Given the description of an element on the screen output the (x, y) to click on. 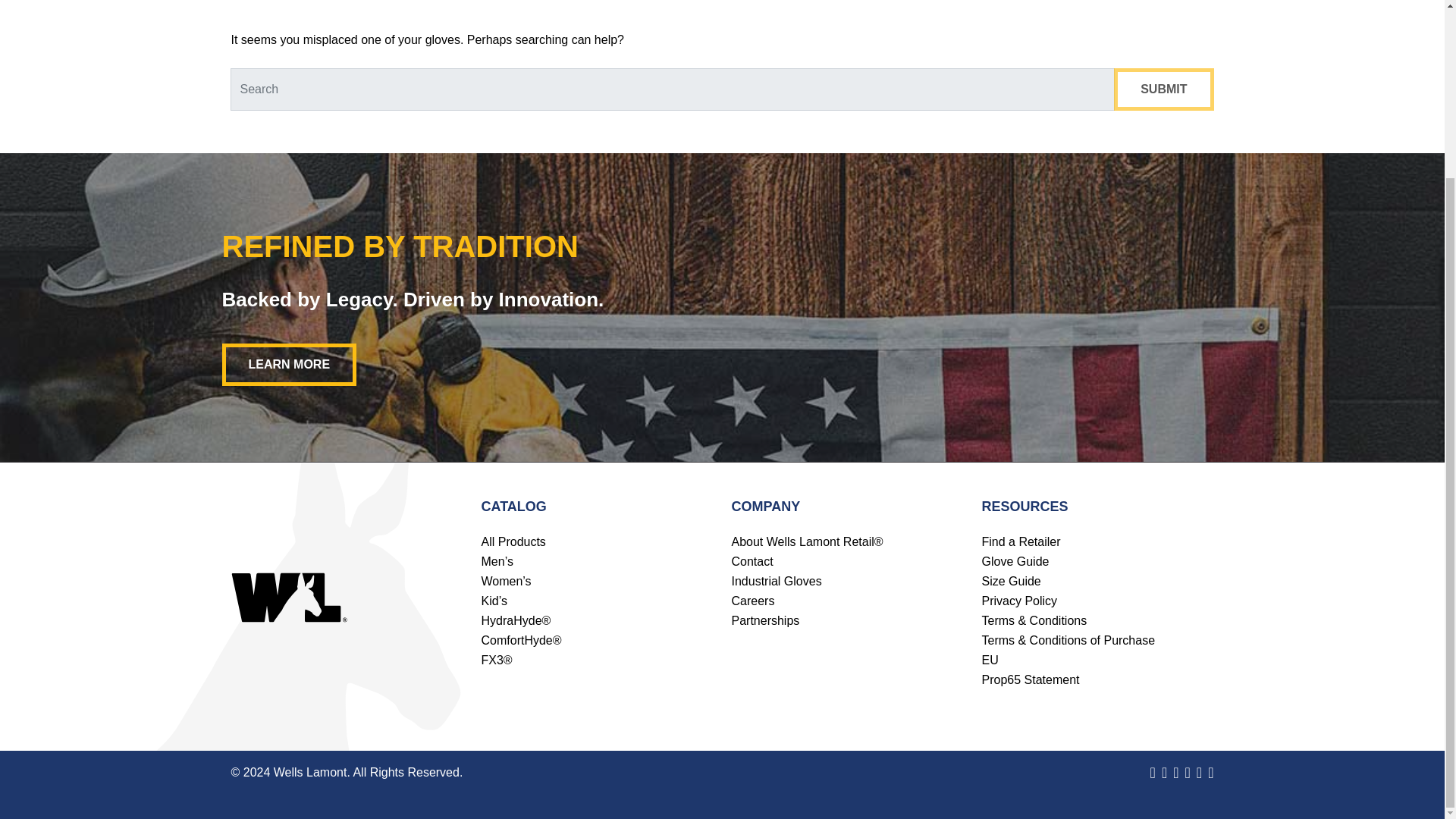
Submit (1162, 88)
